Given the description of an element on the screen output the (x, y) to click on. 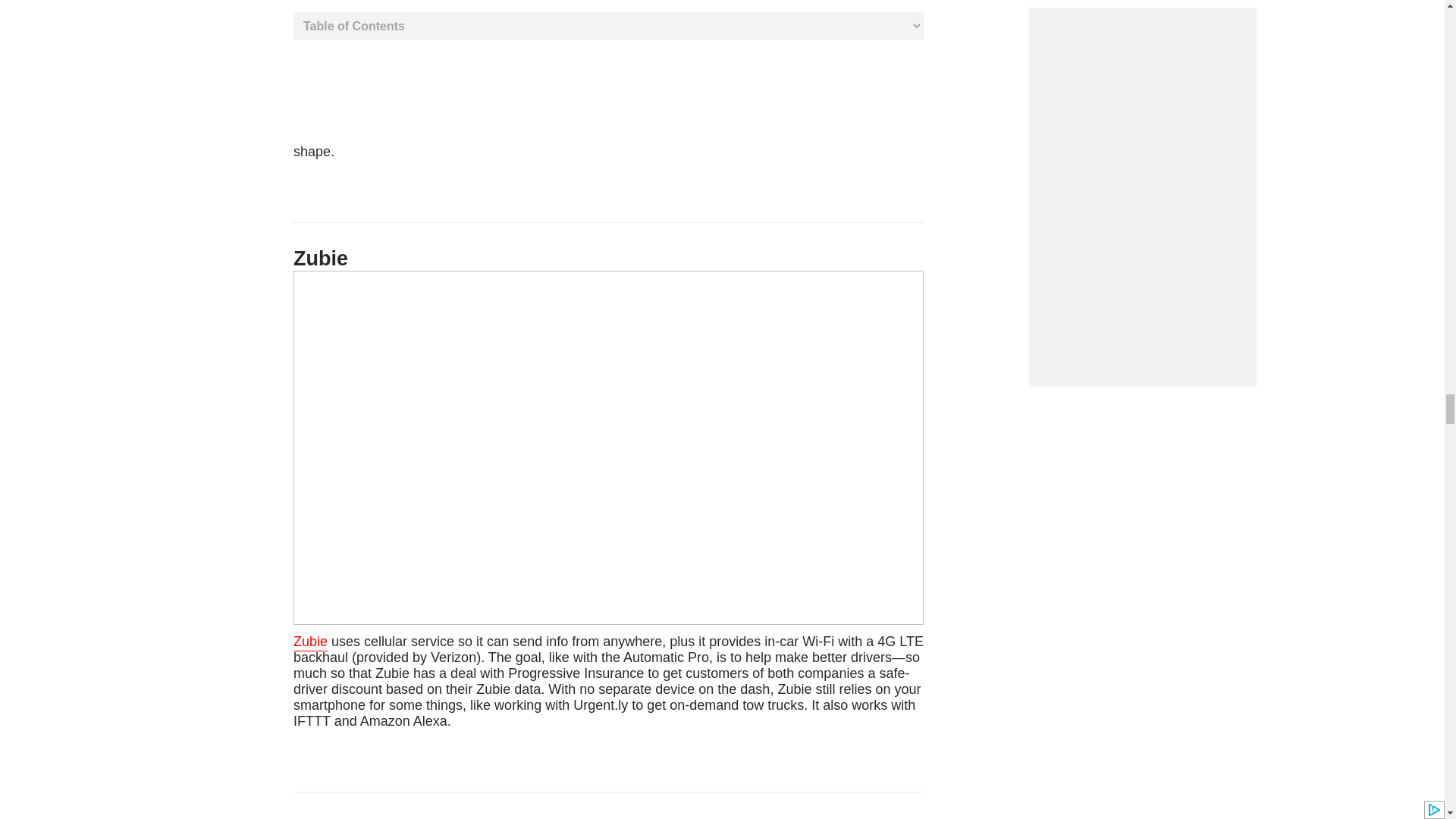
Buy It Now (607, 79)
Buy It Now (608, 680)
